Given the description of an element on the screen output the (x, y) to click on. 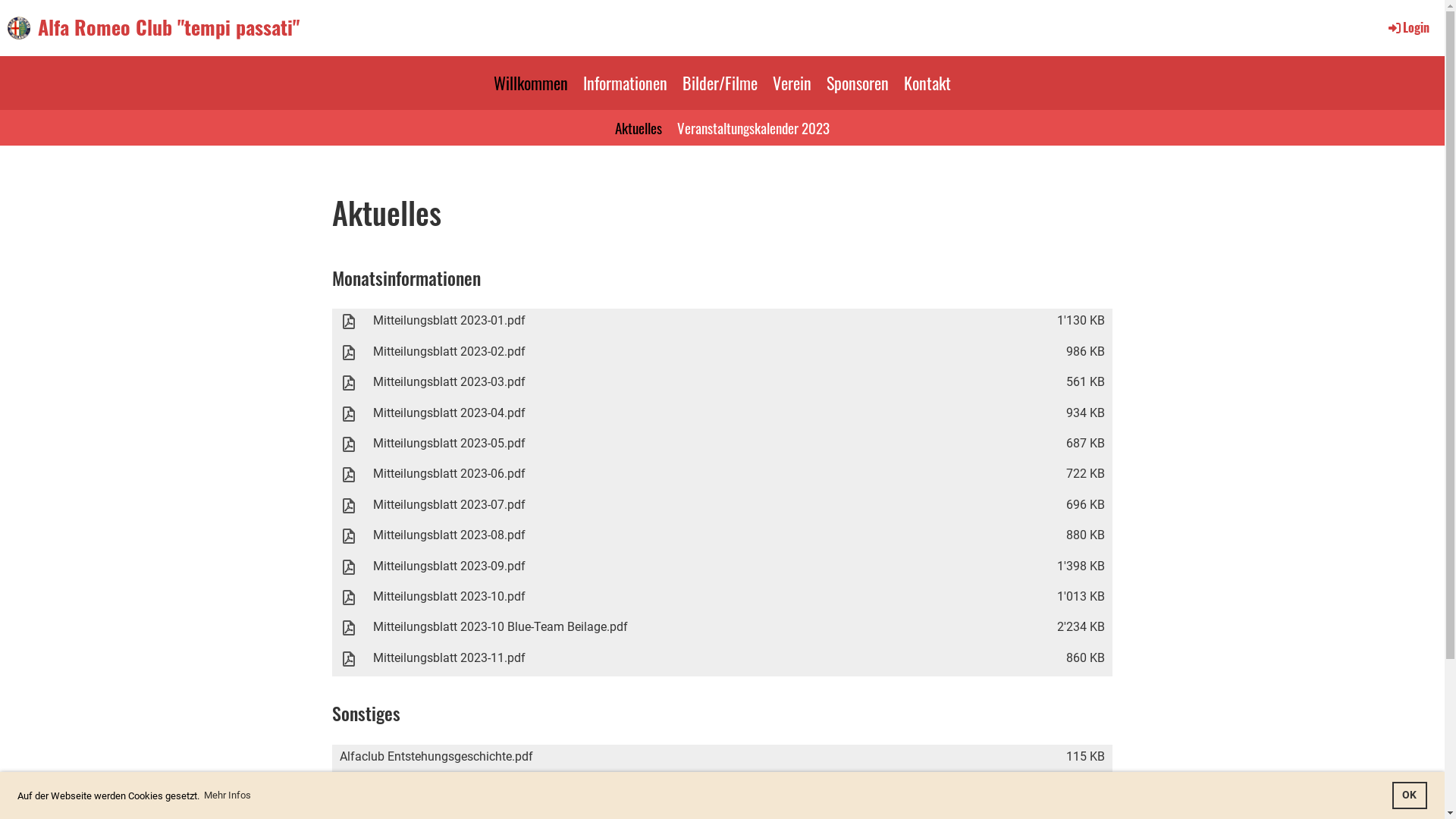
Benzin im Blut - BAZ-Artikel Mai 2019.JPG 275 KB Element type: text (722, 805)
Mitteilungsblatt 2023-10 Blue-Team Beilage.pdf 2'234 KB Element type: text (722, 630)
Mehr Infos Element type: text (226, 795)
Alfaclub Entstehungsgeschichte.pdf 115 KB Element type: text (722, 756)
Verein Element type: text (792, 82)
Mitteilungsblatt 2023-01.pdf 1'130 KB Element type: text (722, 323)
Mitteilungsblatt 2023-06.pdf 722 KB Element type: text (722, 476)
Willkommen Element type: text (530, 82)
Login Element type: text (1407, 27)
Mitteilungsblatt 2023-09.pdf 1'398 KB Element type: text (722, 568)
Kontakt Element type: text (927, 82)
Alfa Romeo Club "tempi passati" Element type: text (168, 26)
Aktuelles Element type: text (638, 127)
Informationen Element type: text (624, 82)
Mitteilungsblatt 2023-05.pdf 687 KB Element type: text (722, 446)
Mitteilungsblatt 2023-10.pdf 1'013 KB Element type: text (722, 599)
OK Element type: text (1409, 795)
Anmeldung Event Element type: text (722, 780)
Mitteilungsblatt 2023-03.pdf 561 KB Element type: text (722, 385)
Bilder/Filme Element type: text (719, 82)
Veranstaltungskalender 2023 Element type: text (753, 127)
Sponsoren Element type: text (857, 82)
Mitteilungsblatt 2023-02.pdf 986 KB Element type: text (722, 354)
Mitteilungsblatt 2023-07.pdf 696 KB Element type: text (722, 507)
Mitteilungsblatt 2023-04.pdf 934 KB Element type: text (722, 416)
Mitteilungsblatt 2023-08.pdf 880 KB Element type: text (722, 538)
Mitteilungsblatt 2023-11.pdf 860 KB Element type: text (722, 661)
